Given the description of an element on the screen output the (x, y) to click on. 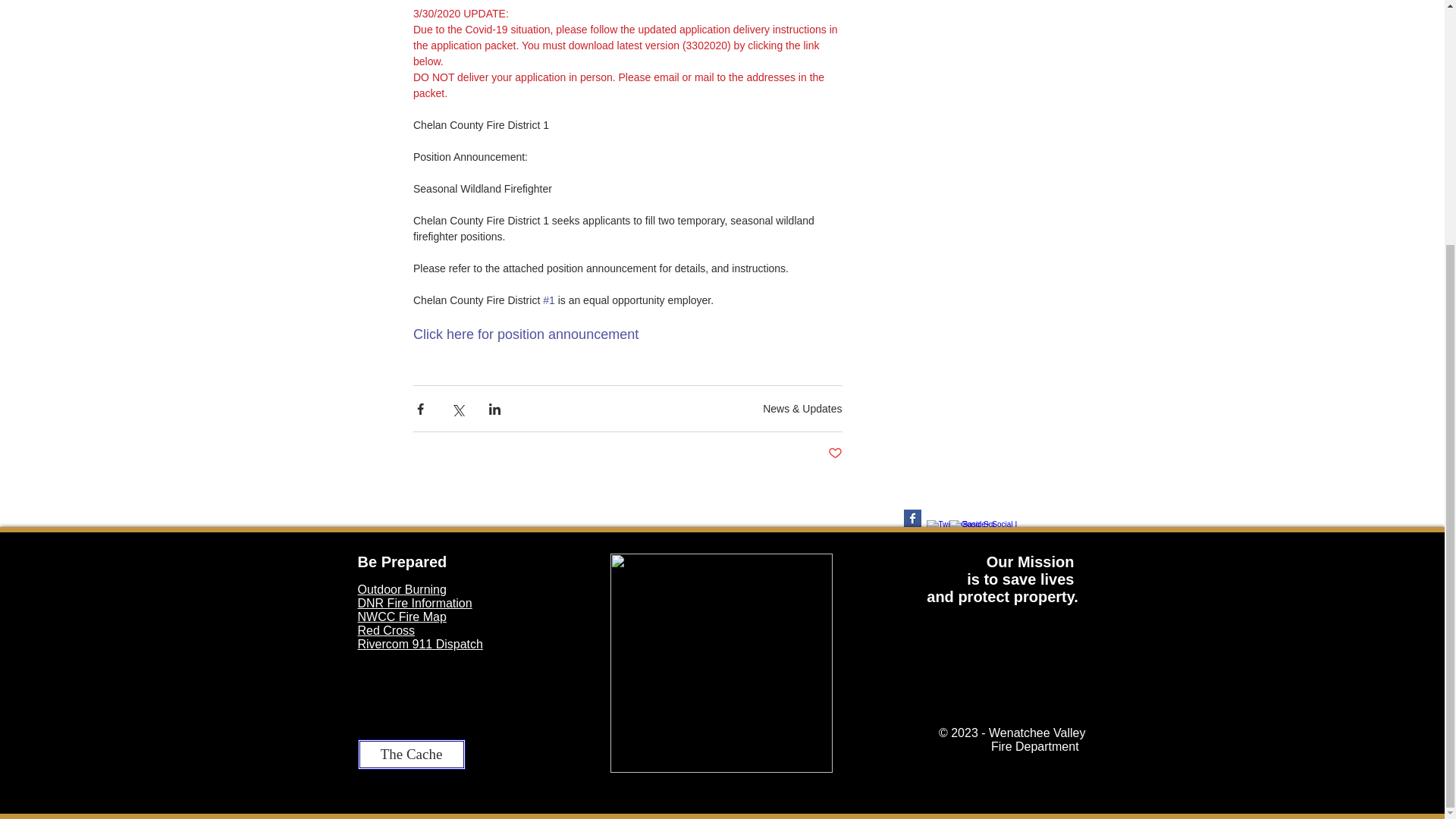
Post not marked as liked (835, 453)
Outdoor Burning (402, 589)
NWCC Fire Map (402, 616)
DNR Fire Information (414, 603)
Click here for position announcement (524, 334)
